Given the description of an element on the screen output the (x, y) to click on. 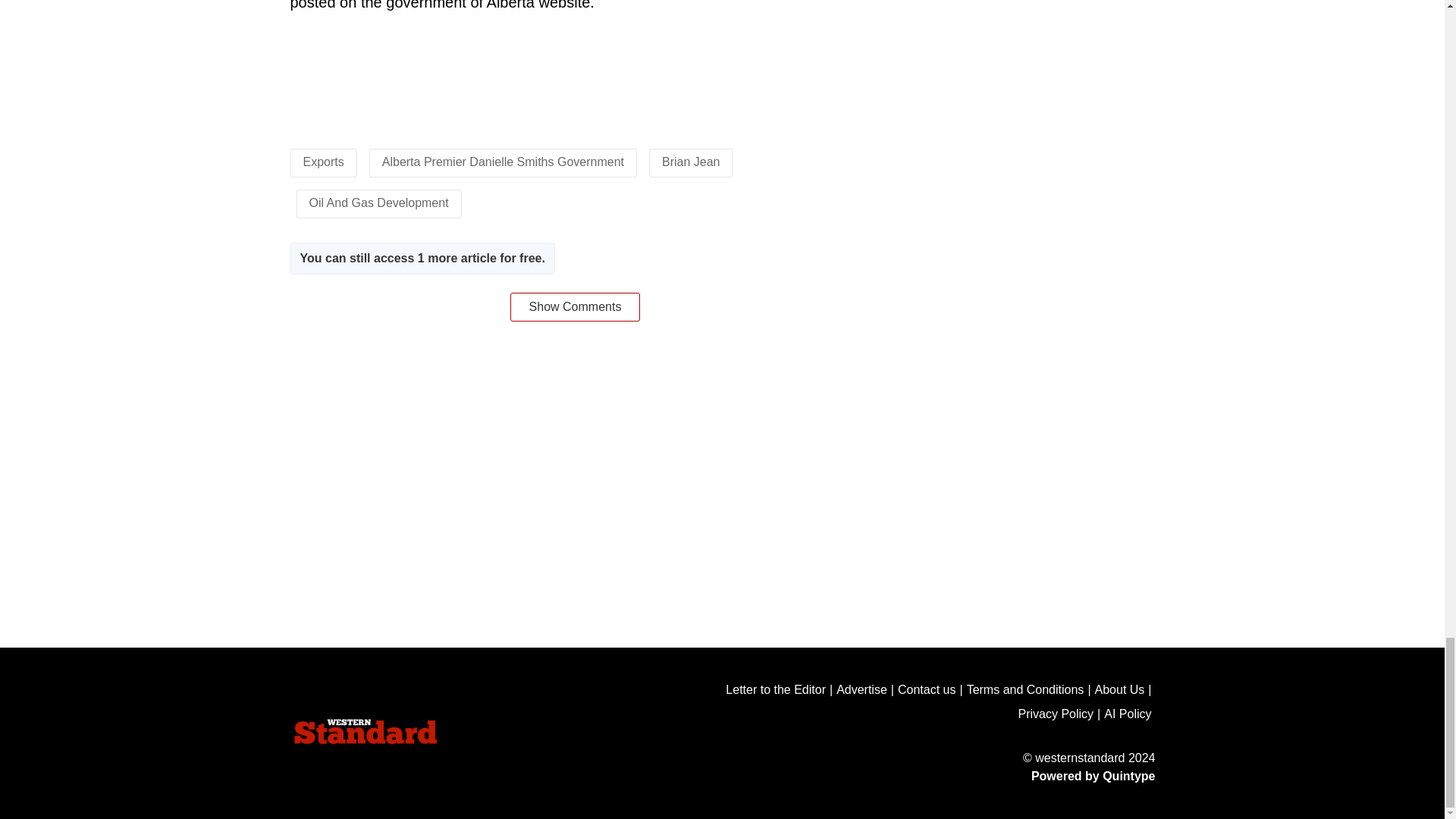
3rd party ad content (721, 418)
3rd party ad content (574, 78)
